Given the description of an element on the screen output the (x, y) to click on. 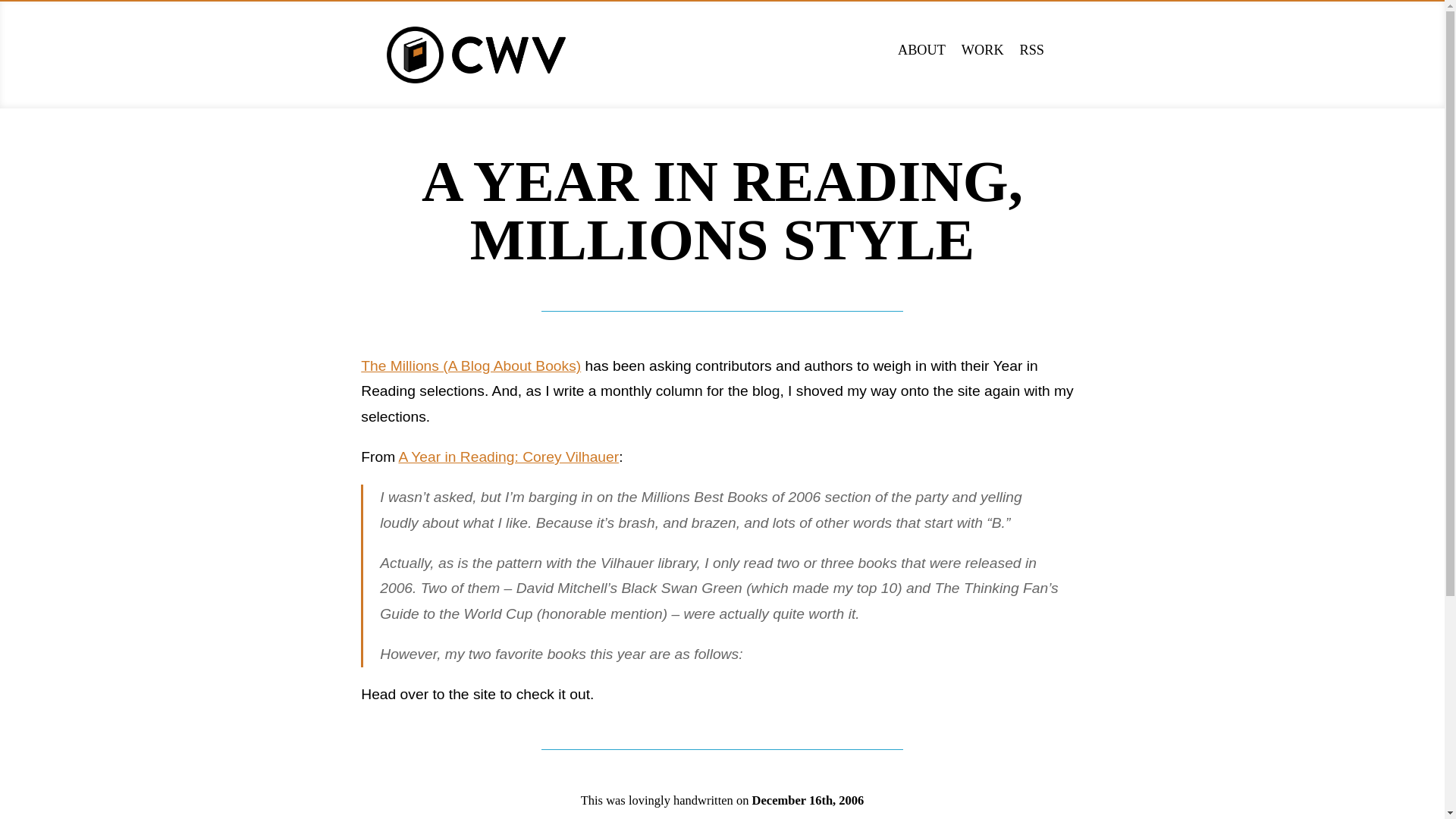
ABOUT (921, 49)
WORK (982, 49)
RSS (1032, 49)
A Year in Reading: Corey Vilhauer (507, 456)
